Given the description of an element on the screen output the (x, y) to click on. 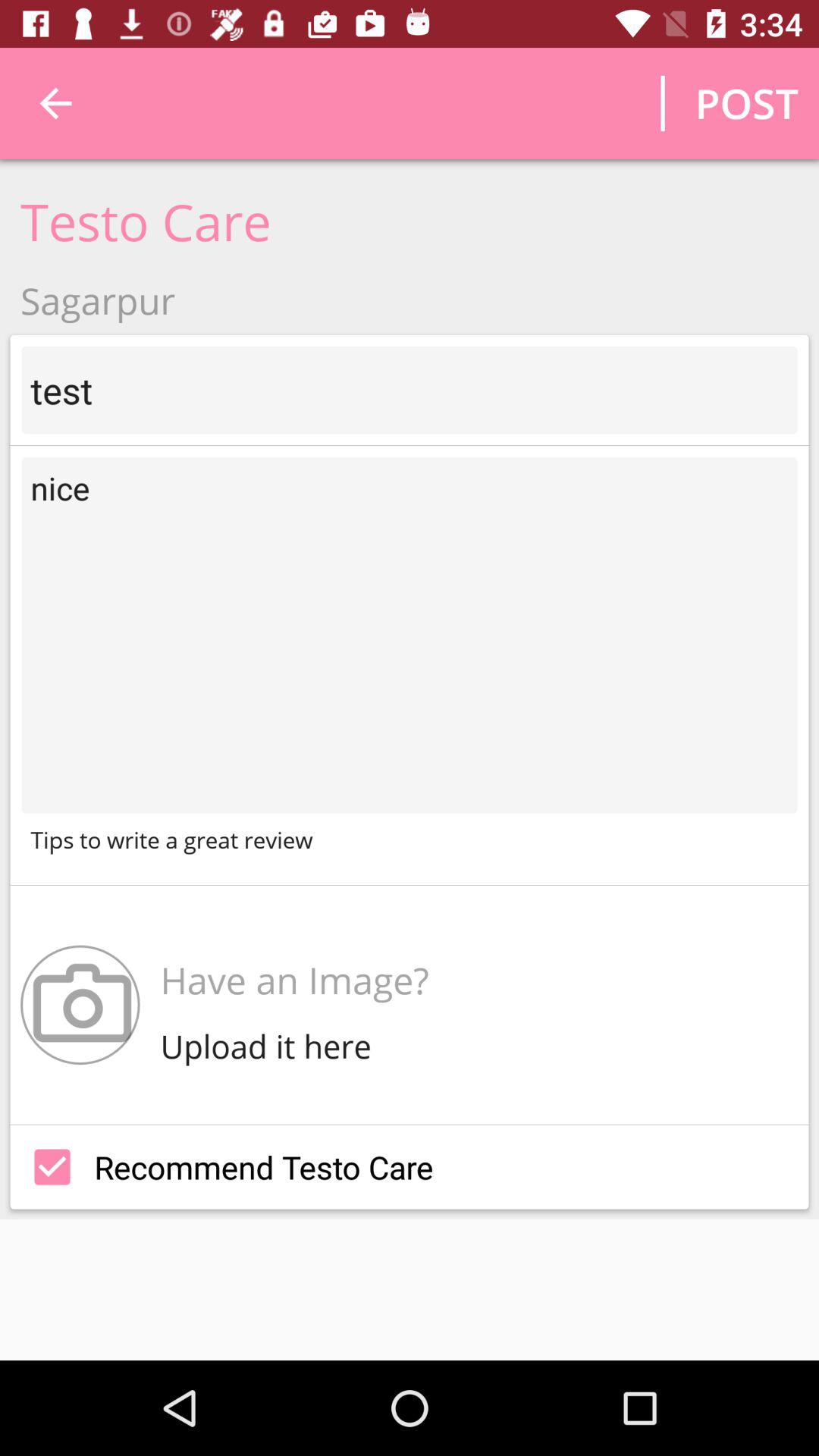
tap the item below the sagarpur icon (409, 390)
